Given the description of an element on the screen output the (x, y) to click on. 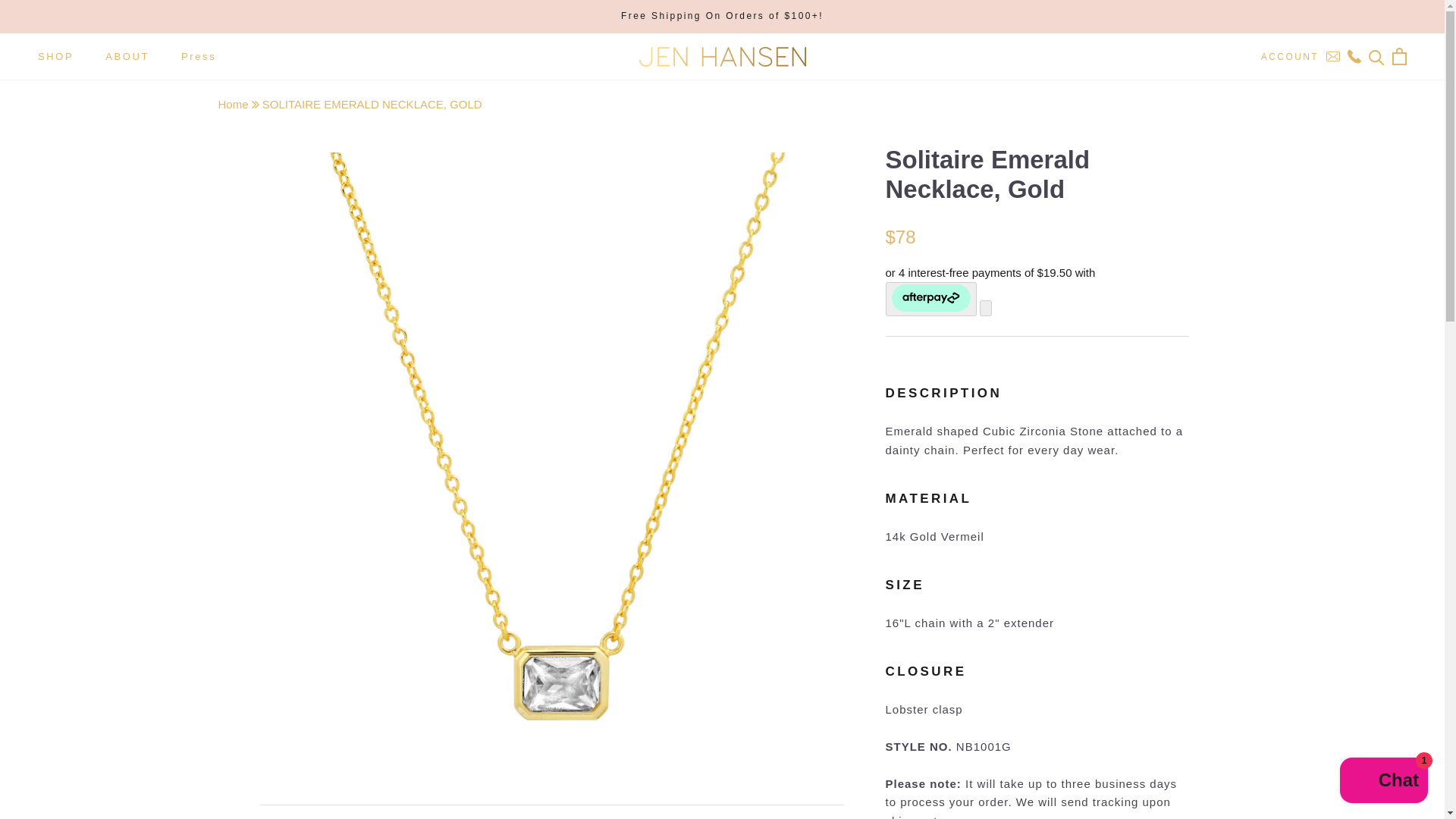
Home (234, 103)
Shopify online store chat (1383, 781)
